Given the description of an element on the screen output the (x, y) to click on. 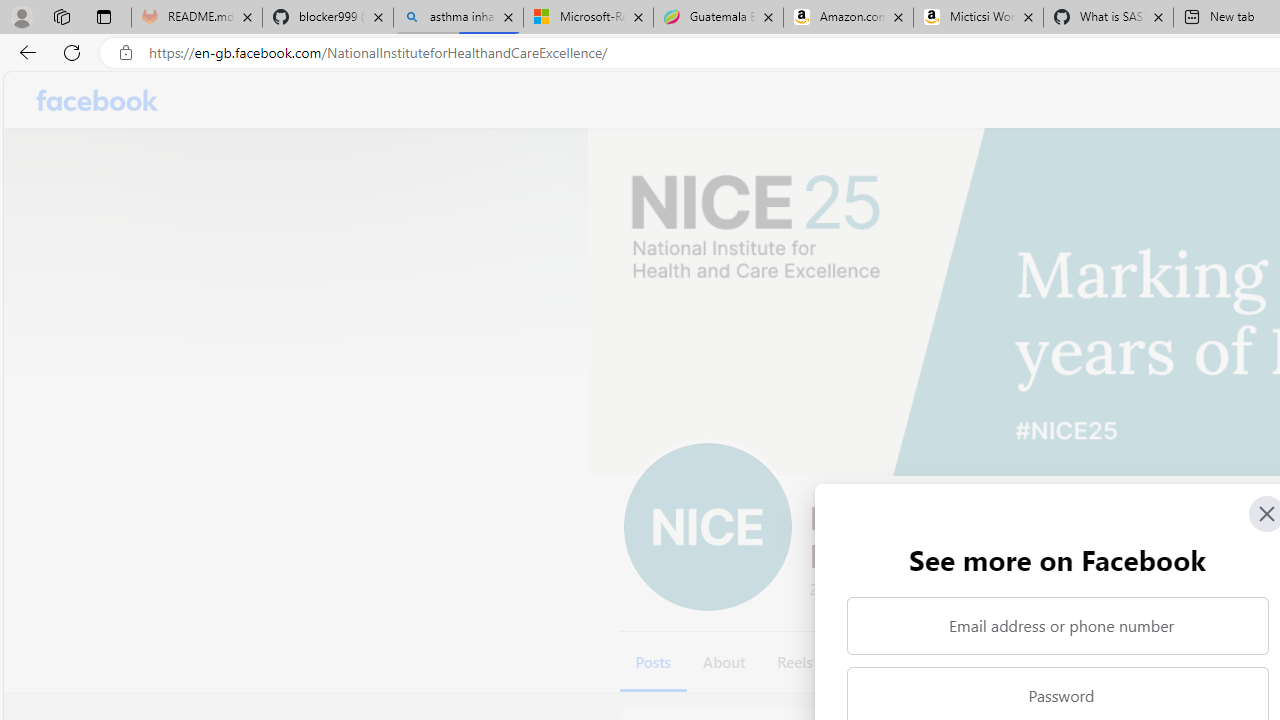
Facebook (97, 99)
Facebook (97, 99)
asthma inhaler - Search (458, 17)
Email address or phone number (1057, 625)
